Given the description of an element on the screen output the (x, y) to click on. 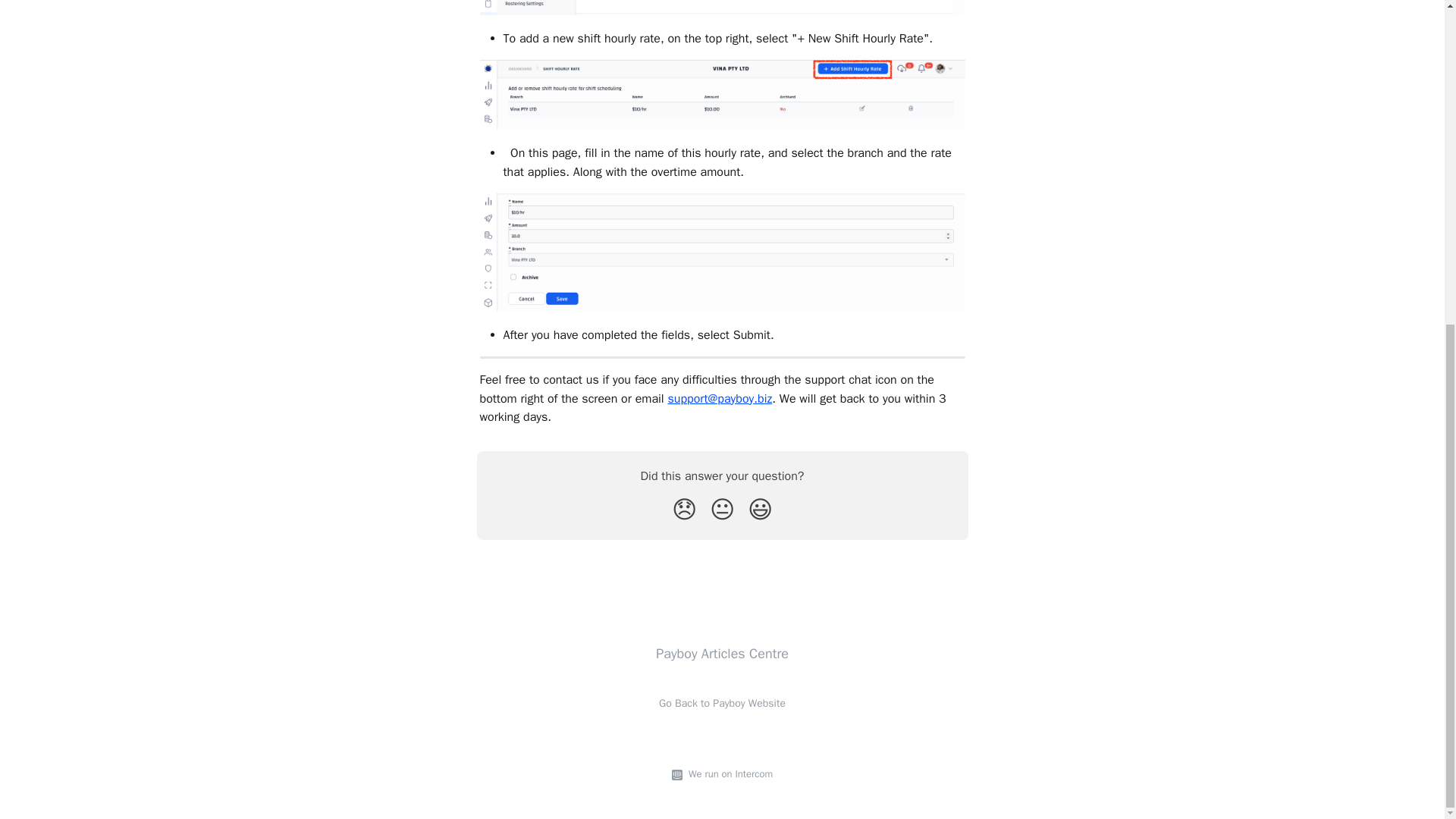
Payboy Articles Centre (722, 653)
We run on Intercom (727, 774)
Go Back to Payboy Website (722, 703)
